Given the description of an element on the screen output the (x, y) to click on. 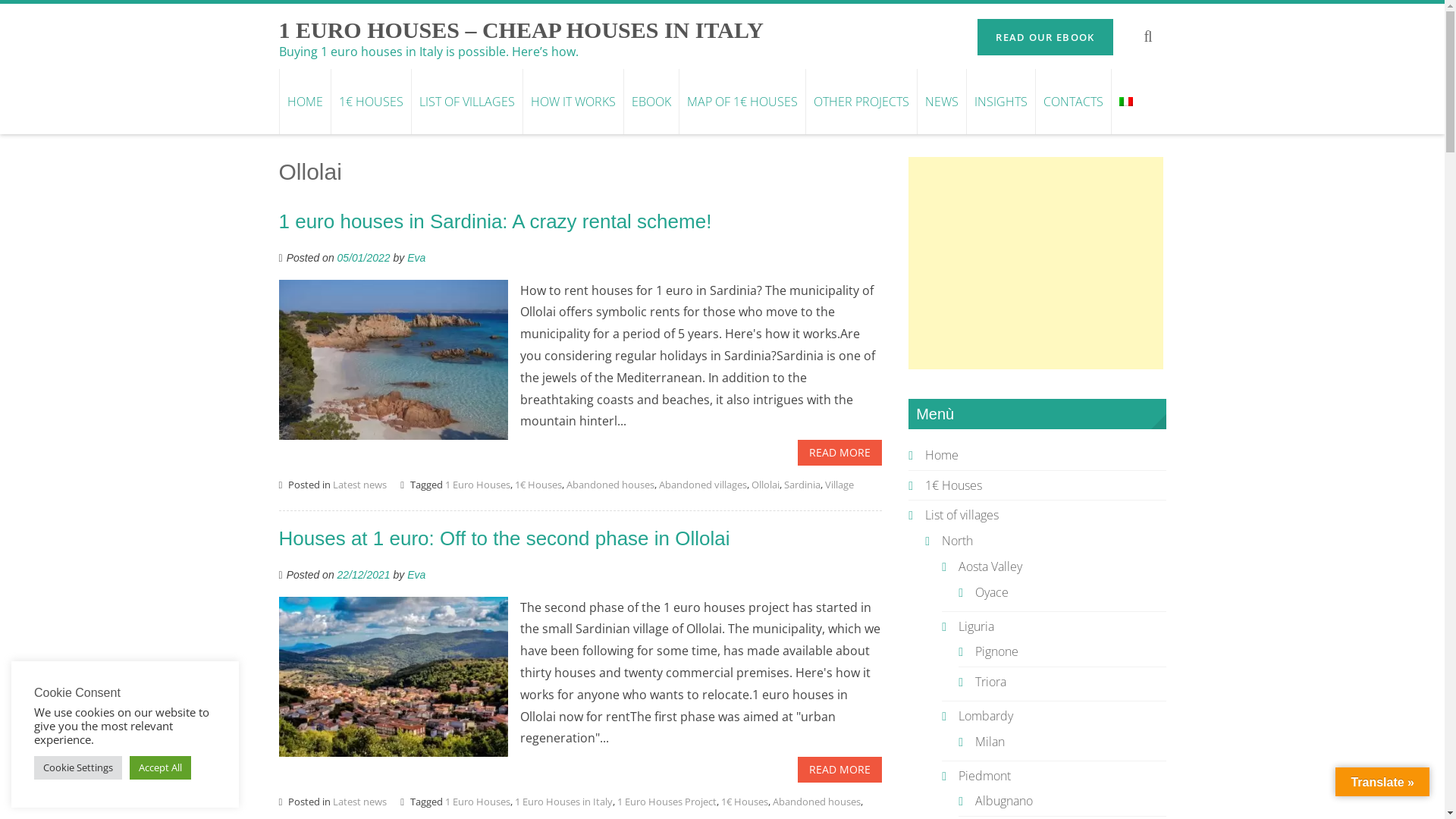
Abandoned houses Element type: text (610, 484)
HOW IT WORKS Element type: text (571, 101)
Pignone Element type: text (996, 651)
READ MORE Element type: text (839, 769)
1 Euro Houses Project Element type: text (666, 801)
Piedmont Element type: text (984, 775)
Latest news Element type: text (359, 801)
CONTACTS Element type: text (1072, 101)
1 Euro Houses in Italy Element type: text (563, 801)
Eva Element type: text (416, 574)
1 Euro Houses Element type: text (477, 484)
Albugnano Element type: text (1003, 800)
Abandoned houses Element type: text (816, 801)
READ OUR EBOOK Element type: text (1044, 36)
List of villages Element type: text (961, 514)
Liguria Element type: text (976, 626)
Home Element type: text (941, 454)
Aosta Valley Element type: text (990, 566)
READ MORE Element type: text (839, 452)
Milan Element type: text (989, 741)
Cookie Settings Element type: text (78, 767)
Houses at 1 euro: Off to the second phase in Ollolai Element type: text (504, 538)
Sardinia Element type: text (802, 484)
Triora Element type: text (990, 681)
Abandoned villages Element type: text (702, 484)
Eva Element type: text (416, 257)
1 euro houses in Sardinia: A crazy rental scheme! Element type: text (495, 221)
HOME Element type: text (304, 101)
Oyace Element type: text (991, 591)
1 Euro Houses Element type: text (477, 801)
LIST OF VILLAGES Element type: text (466, 101)
INSIGHTS Element type: text (1000, 101)
Lombardy Element type: text (985, 715)
Village Element type: text (839, 484)
Latest news Element type: text (359, 484)
EBOOK Element type: text (650, 101)
22/12/2021 Element type: text (363, 574)
Accept All Element type: text (160, 767)
North Element type: text (956, 540)
Ollolai Element type: text (765, 484)
NEWS Element type: text (940, 101)
OTHER PROJECTS Element type: text (860, 101)
05/01/2022 Element type: text (363, 257)
